Given the description of an element on the screen output the (x, y) to click on. 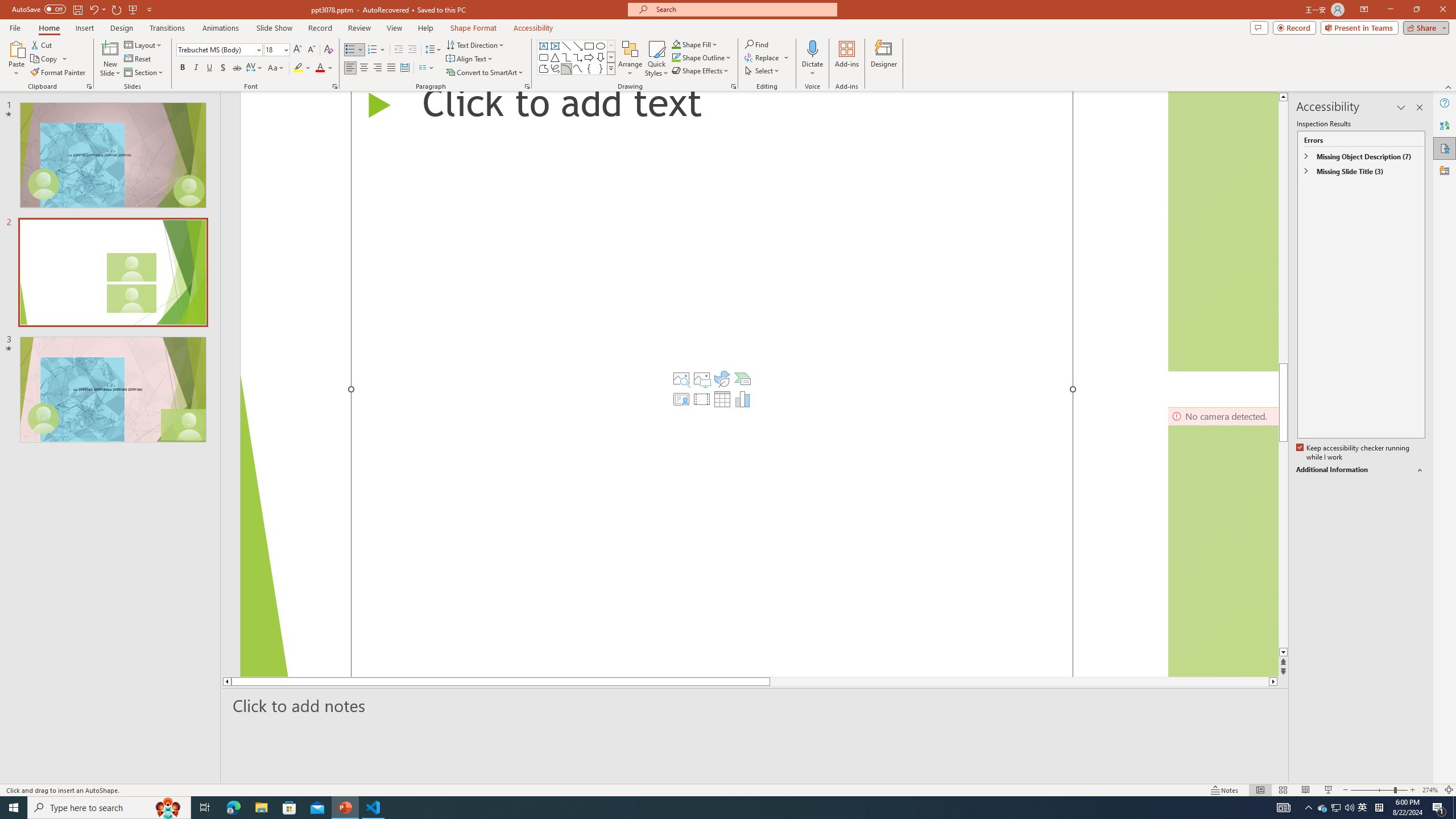
Camera 5, No camera detected. (1222, 231)
